Given the description of an element on the screen output the (x, y) to click on. 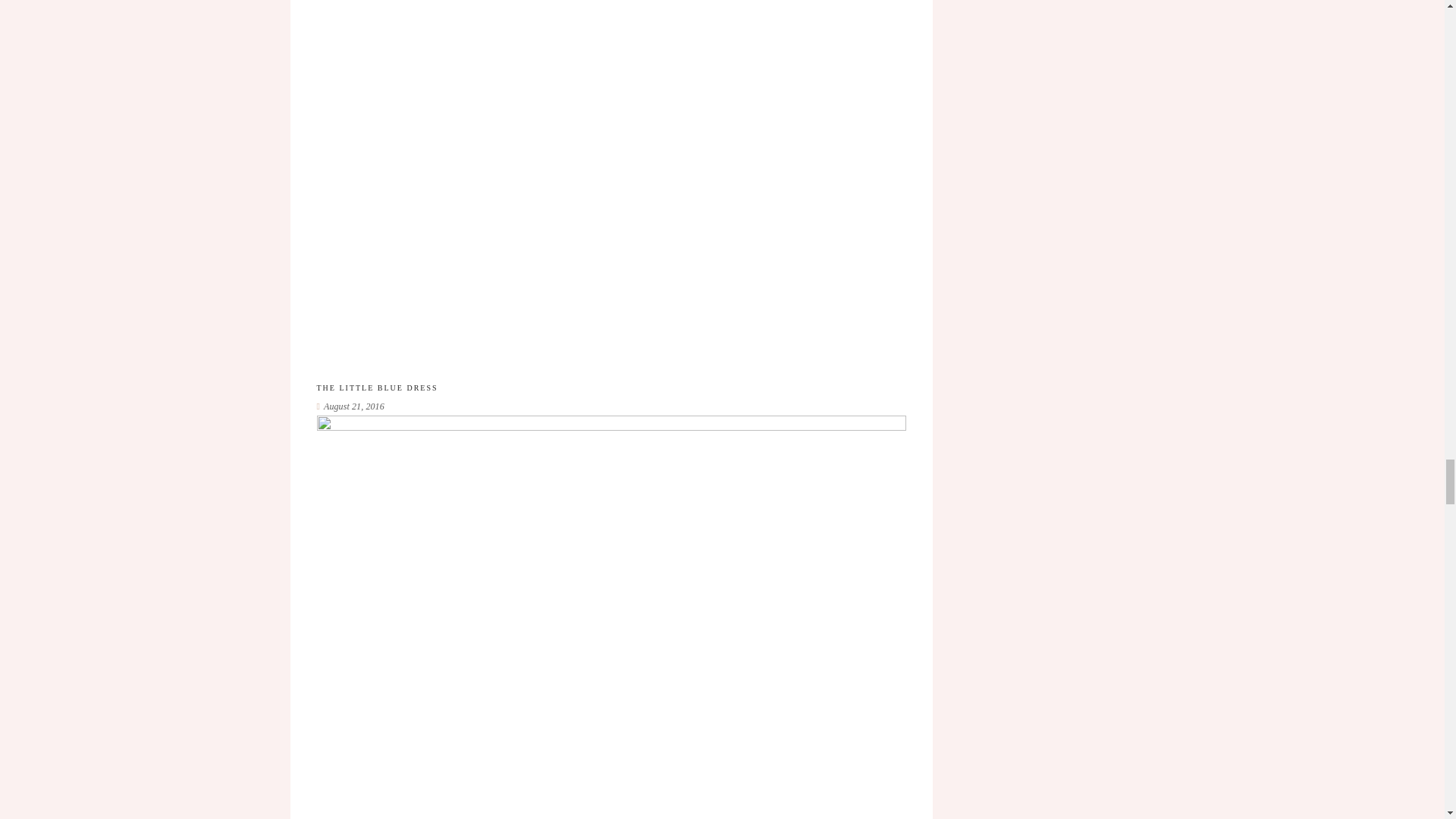
THE LITTLE BLUE DRESS (377, 388)
